Given the description of an element on the screen output the (x, y) to click on. 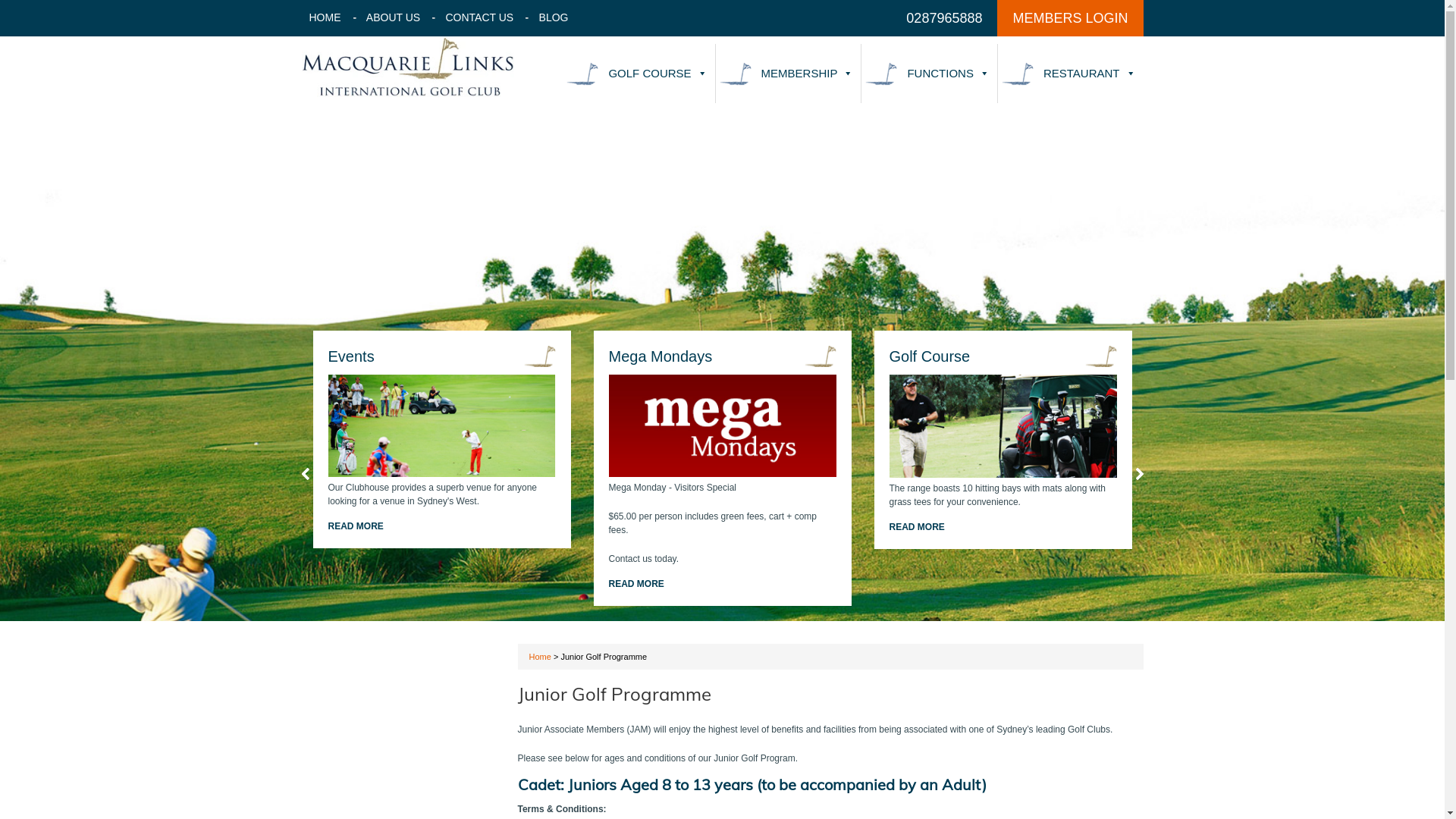
READ MORE Element type: text (778, 583)
ABOUT US Element type: text (393, 17)
READ MORE Element type: text (1112, 526)
Home Element type: text (540, 656)
HOME Element type: text (325, 17)
GOLF COURSE Element type: text (638, 73)
RESTAURANT Element type: text (1070, 73)
BLOG Element type: text (553, 17)
MEMBERSHIP Element type: text (788, 73)
FUNCTIONS Element type: text (929, 73)
MEMBERS LOGIN Element type: text (1069, 18)
CONTACT US Element type: text (479, 17)
READ MORE Element type: text (516, 525)
